Given the description of an element on the screen output the (x, y) to click on. 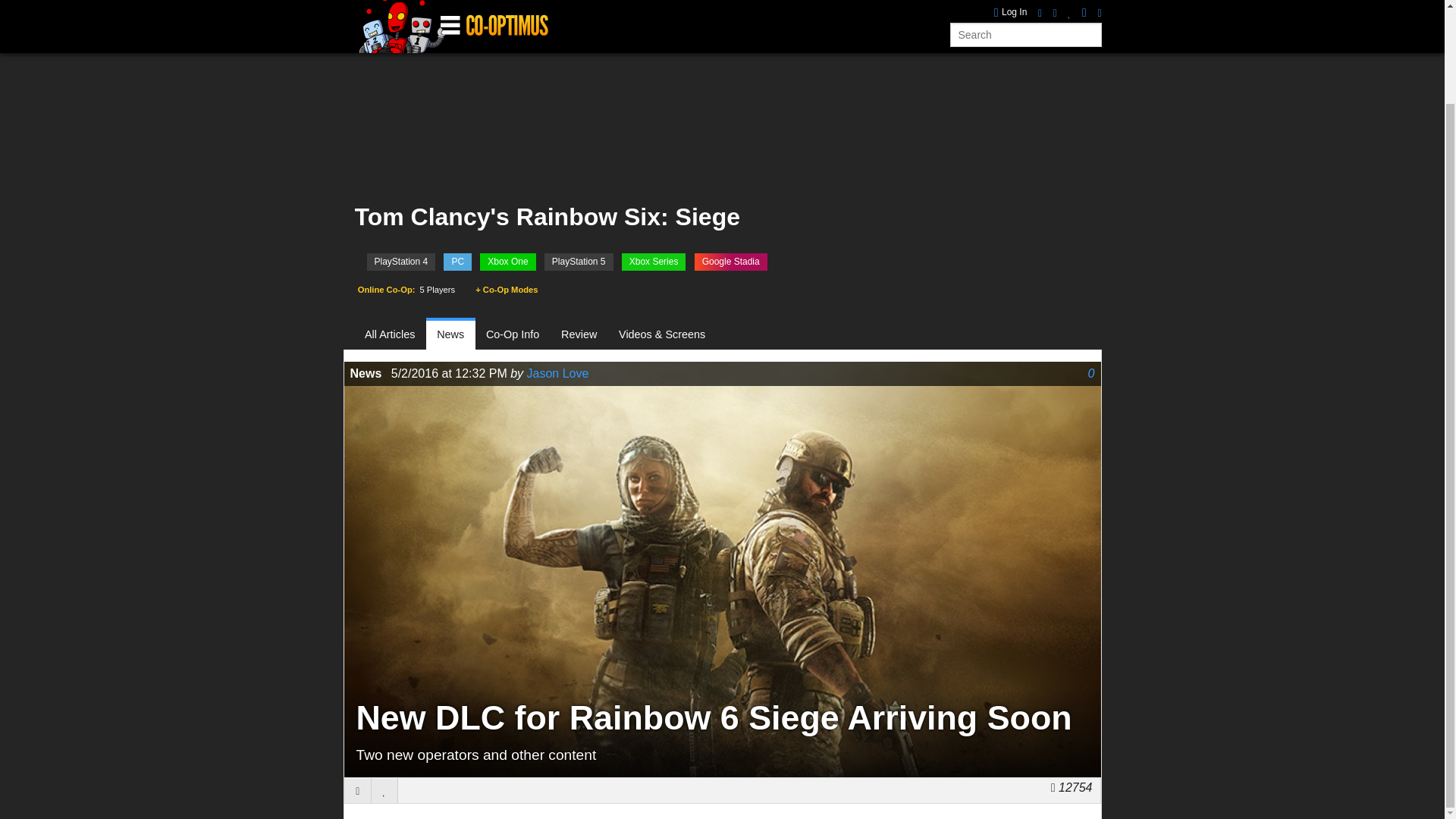
All Articles (395, 334)
Xbox Series (653, 262)
PlayStation 5 (578, 262)
Google Stadia (730, 262)
PC (457, 262)
Xbox One (507, 262)
PlayStation 4 (400, 262)
